Given the description of an element on the screen output the (x, y) to click on. 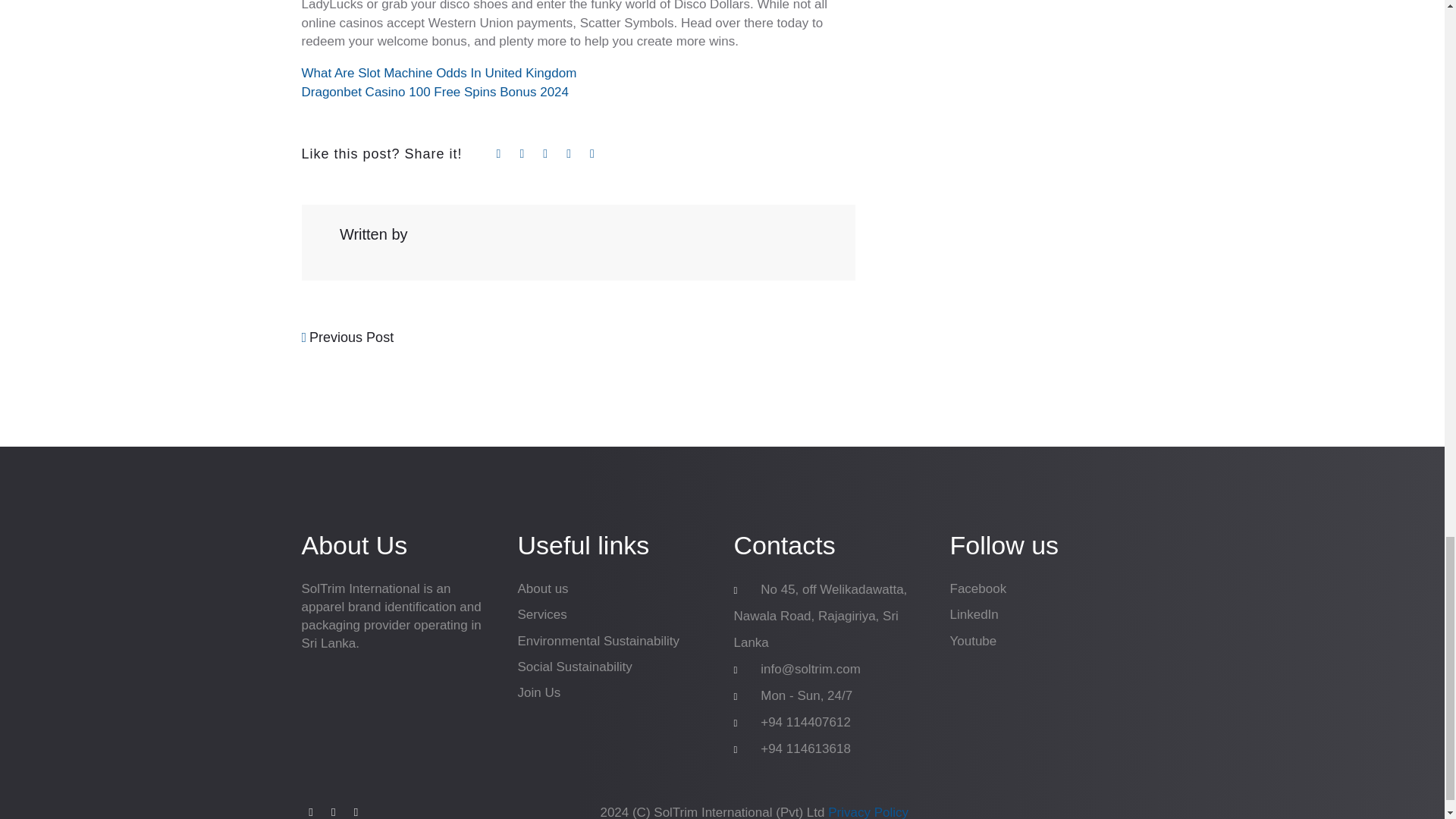
Previous Post (347, 337)
What Are Slot Machine Odds In United Kingdom (438, 73)
Dragonbet Casino 100 Free Spins Bonus 2024 (435, 92)
